Given the description of an element on the screen output the (x, y) to click on. 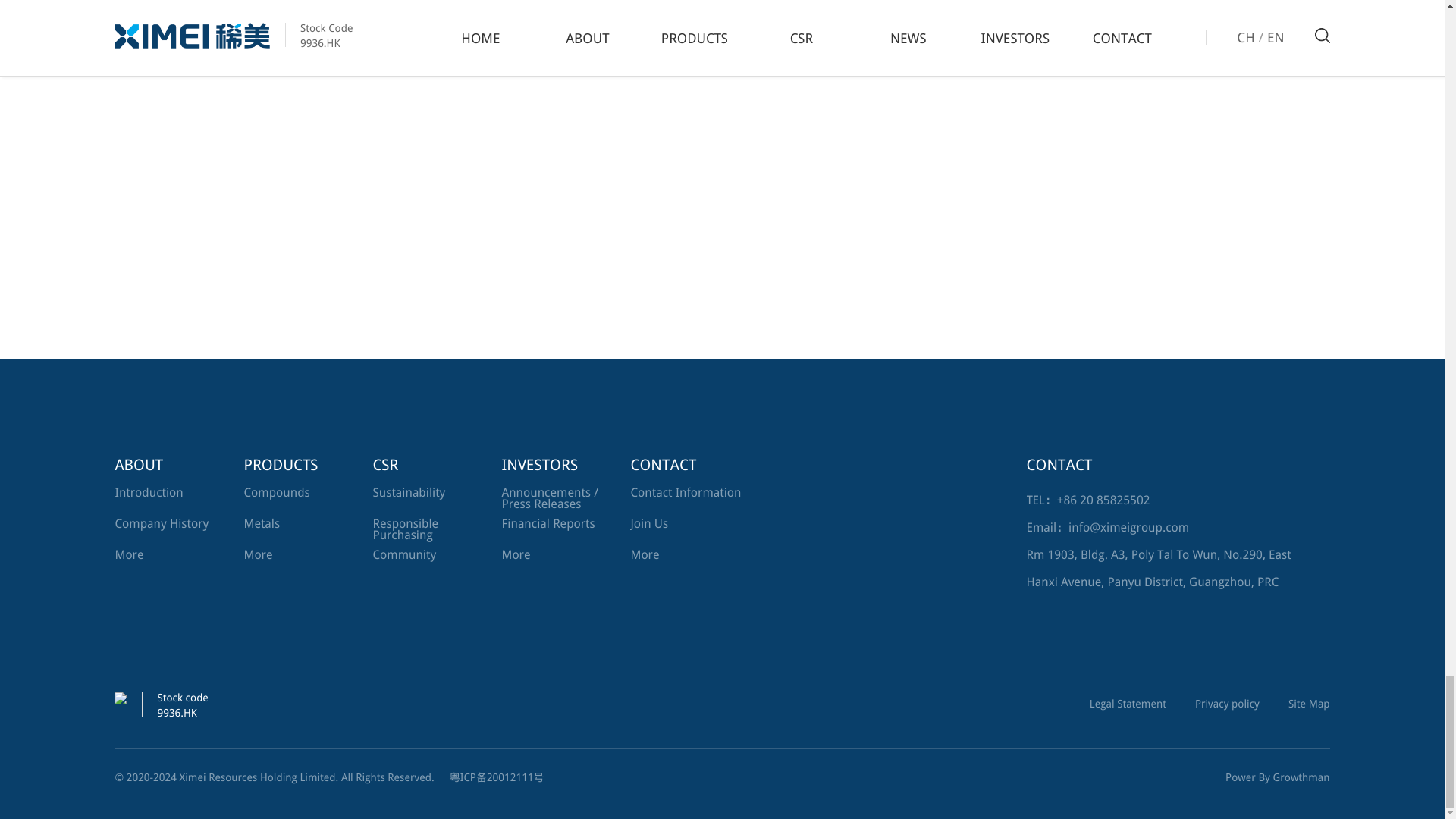
ABOUT (175, 464)
Introduction (149, 492)
Company History (161, 523)
